Given the description of an element on the screen output the (x, y) to click on. 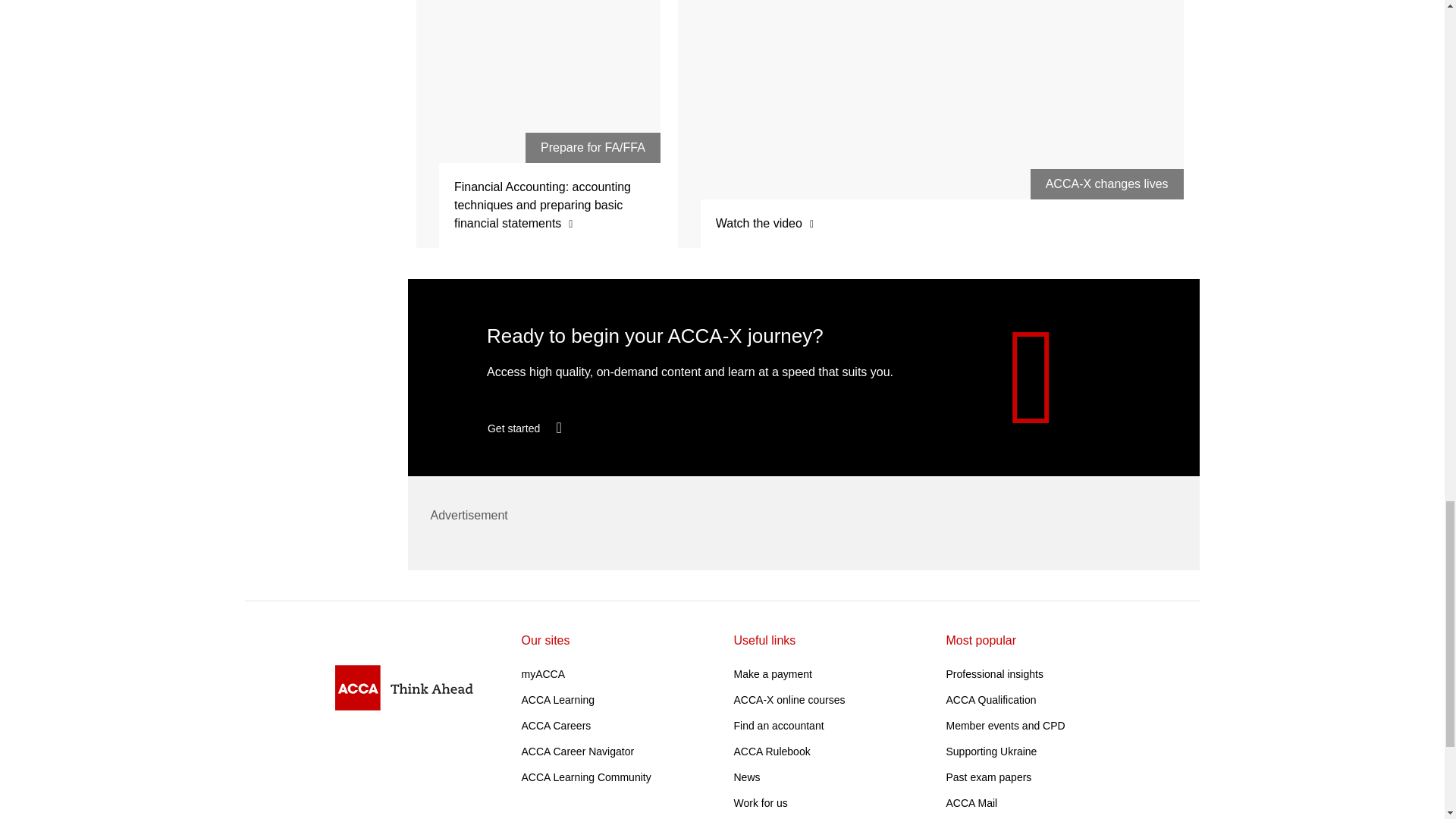
Make a payment (772, 674)
Find an accountant (778, 725)
ACCA Careers (556, 725)
ACCA Rulebook (771, 751)
Home Link (403, 687)
ACCA-X online courses (789, 699)
Work for us (760, 802)
Professional insights (994, 674)
Get started (537, 428)
myACCA (543, 674)
ACCA Learning Community (585, 776)
ACCA Career Navigator (577, 751)
News (746, 776)
ACCA Learning (558, 699)
